Given the description of an element on the screen output the (x, y) to click on. 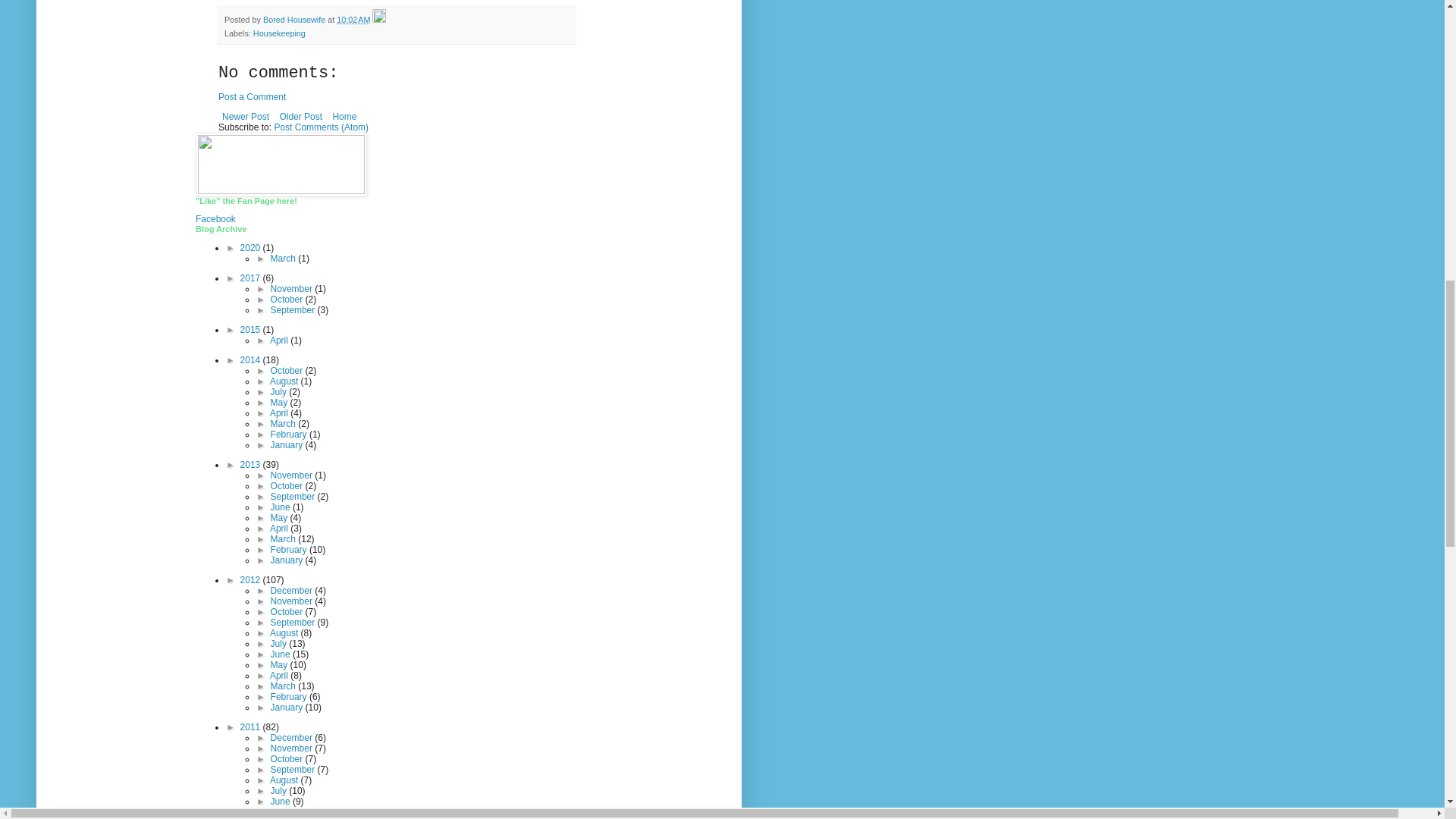
author profile (295, 19)
Home (344, 116)
October (287, 299)
2017 (251, 277)
August (285, 380)
July (279, 391)
Newer Post (245, 116)
2015 (251, 329)
2020 (251, 247)
March (284, 258)
April (279, 339)
October (287, 370)
Newer Post (245, 116)
Bored Housewife (295, 19)
